Given the description of an element on the screen output the (x, y) to click on. 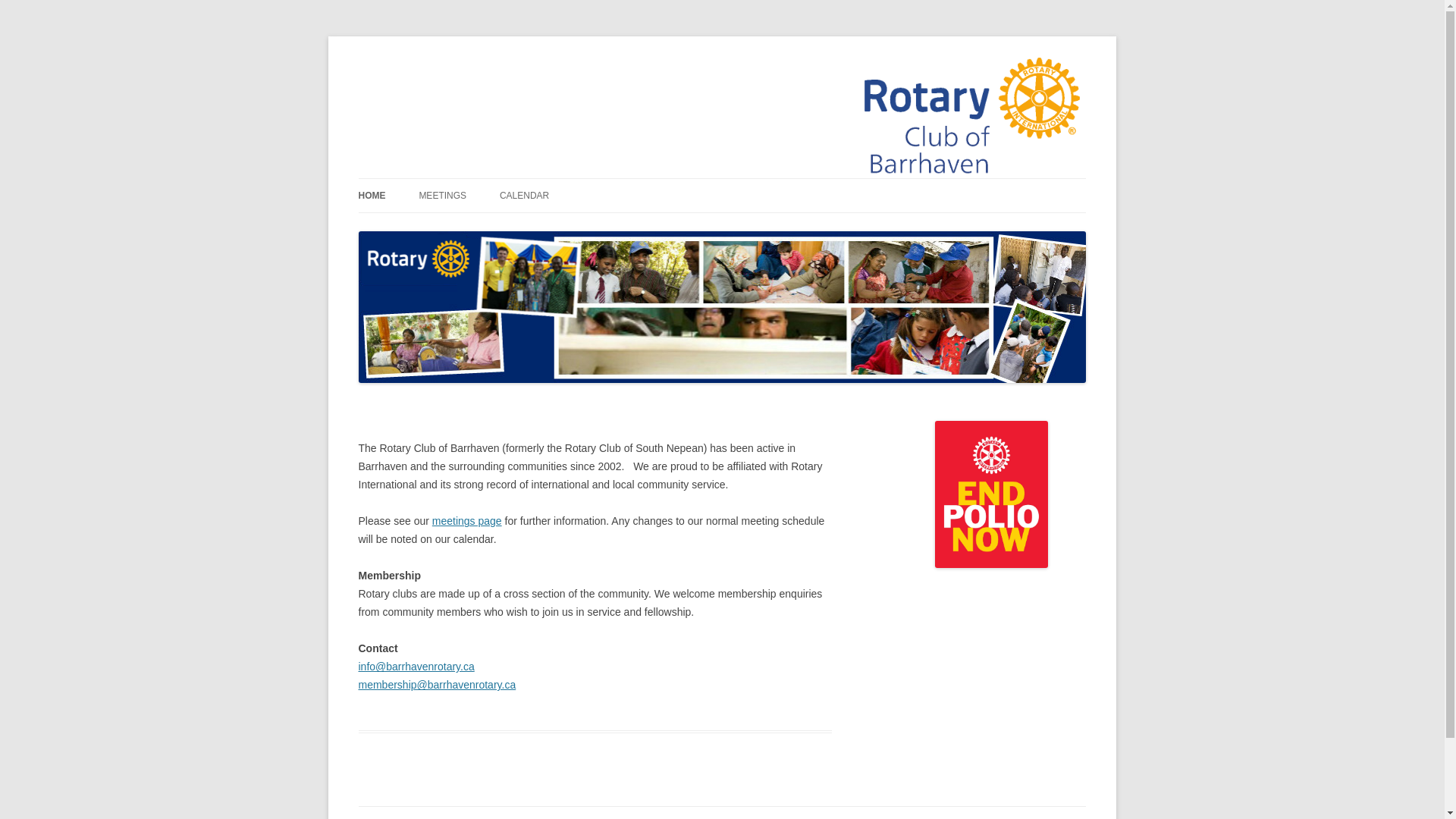
CALENDAR (523, 195)
MEETINGS (442, 195)
Rotary Club of Barrhaven (477, 72)
Rotary Club of Barrhaven (477, 72)
meetings page (467, 521)
